Given the description of an element on the screen output the (x, y) to click on. 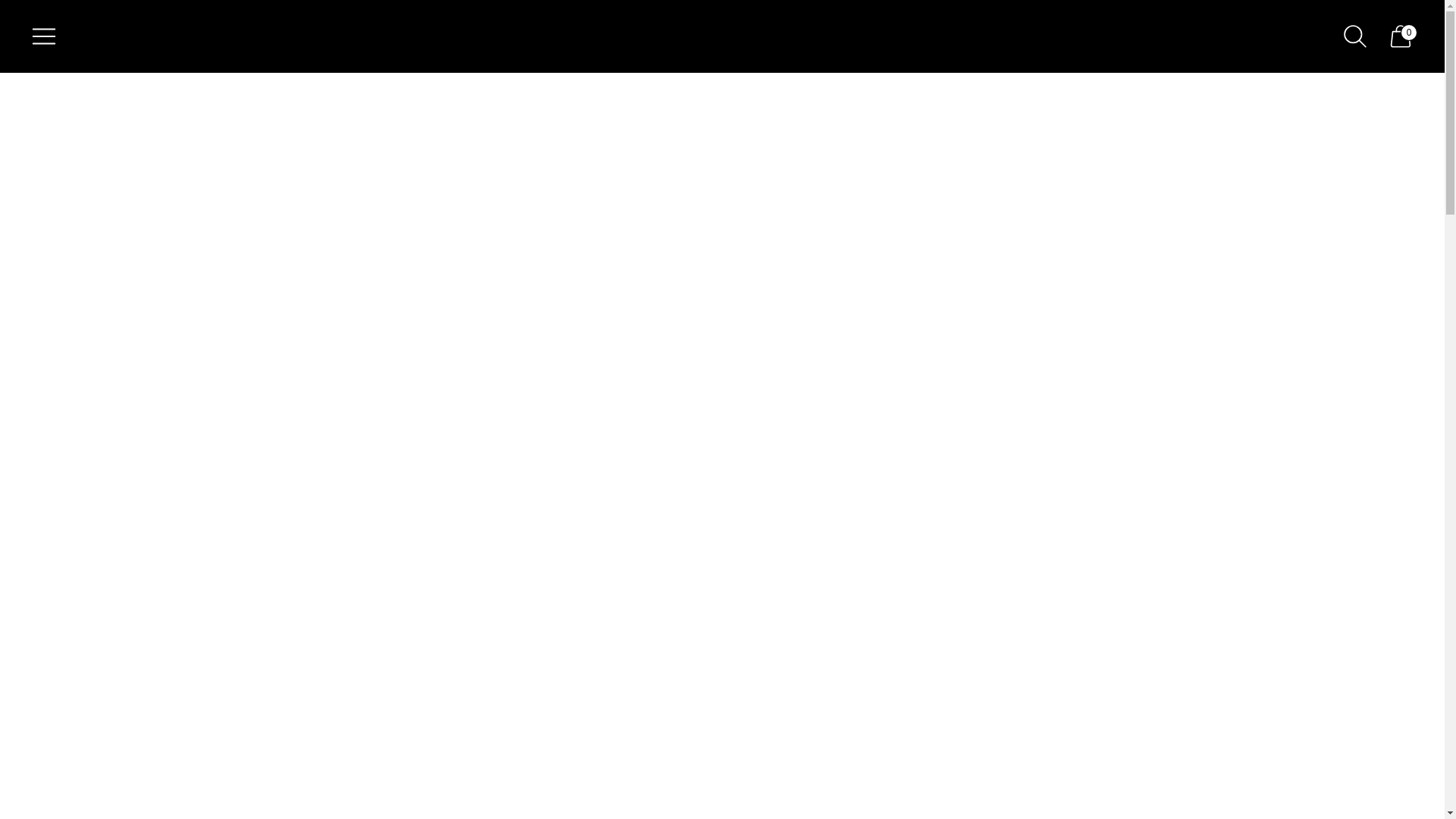
0 (1400, 36)
